Given the description of an element on the screen output the (x, y) to click on. 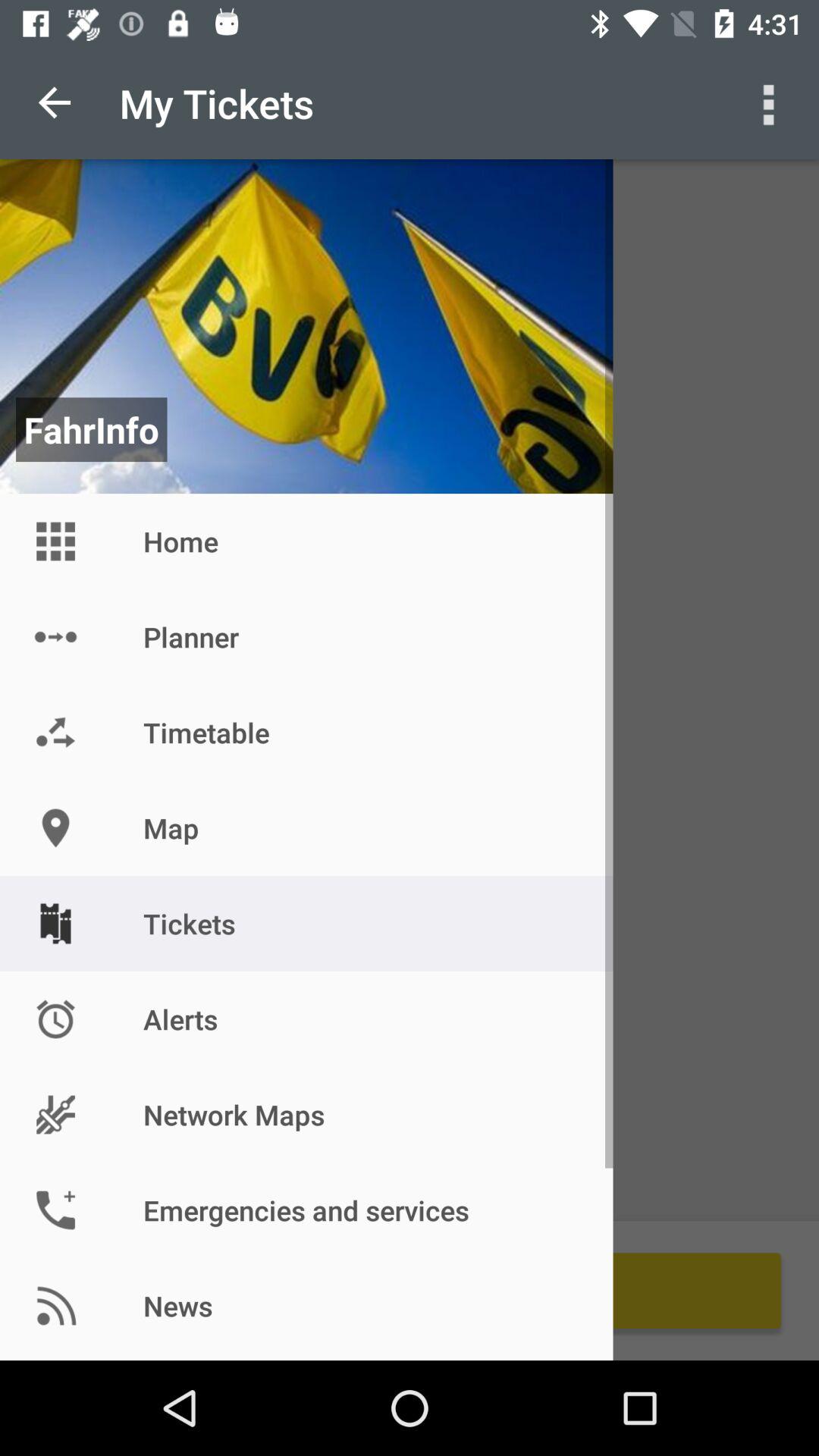
click on the icon beside the network maps (55, 1114)
select the icon which is left side of the news (55, 1306)
select the icon which is left side of the tickets (55, 923)
